Given the description of an element on the screen output the (x, y) to click on. 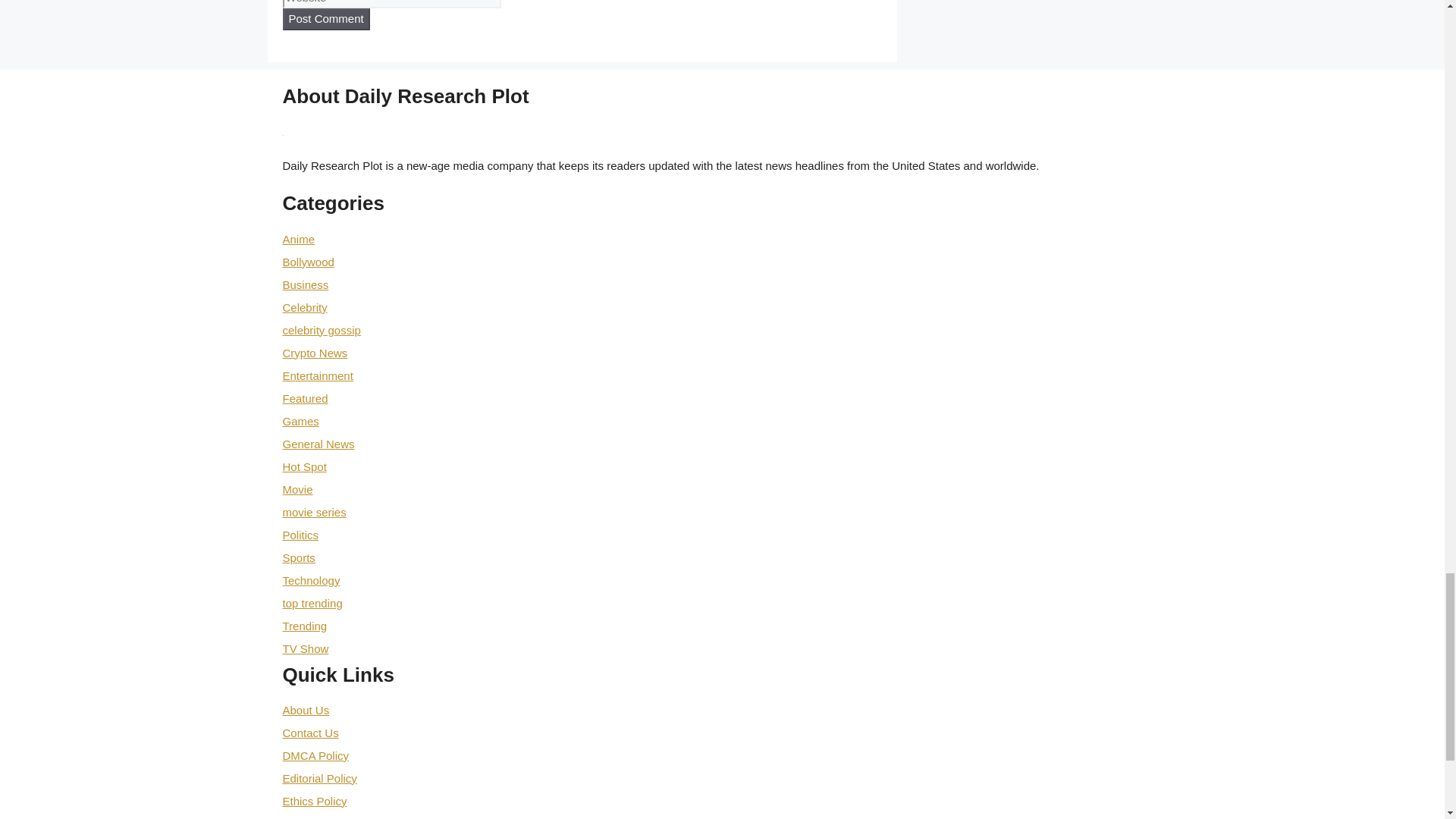
Post Comment (325, 19)
